Given the description of an element on the screen output the (x, y) to click on. 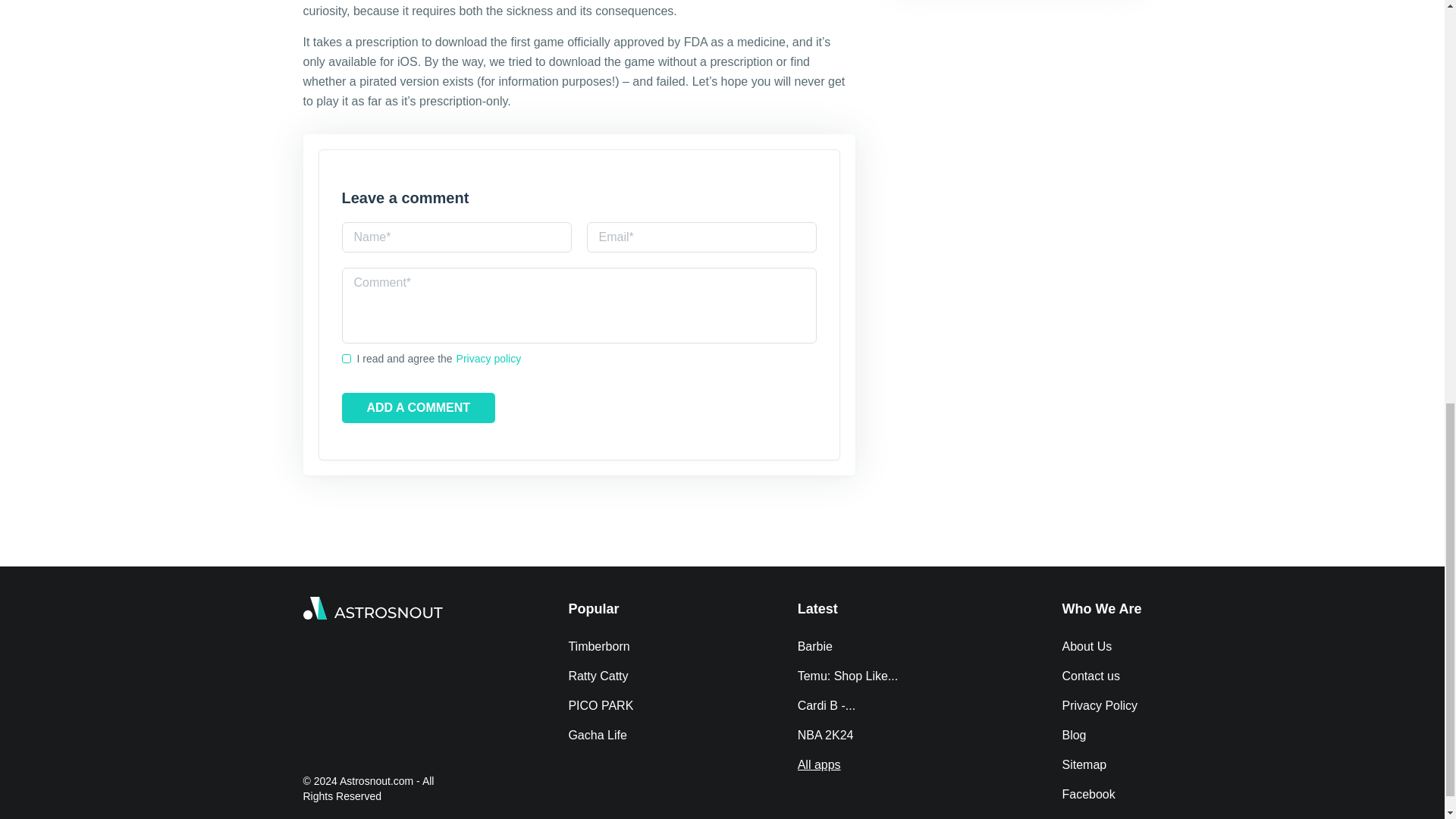
Privacy policy (489, 358)
ADD A COMMENT (417, 408)
